Given the description of an element on the screen output the (x, y) to click on. 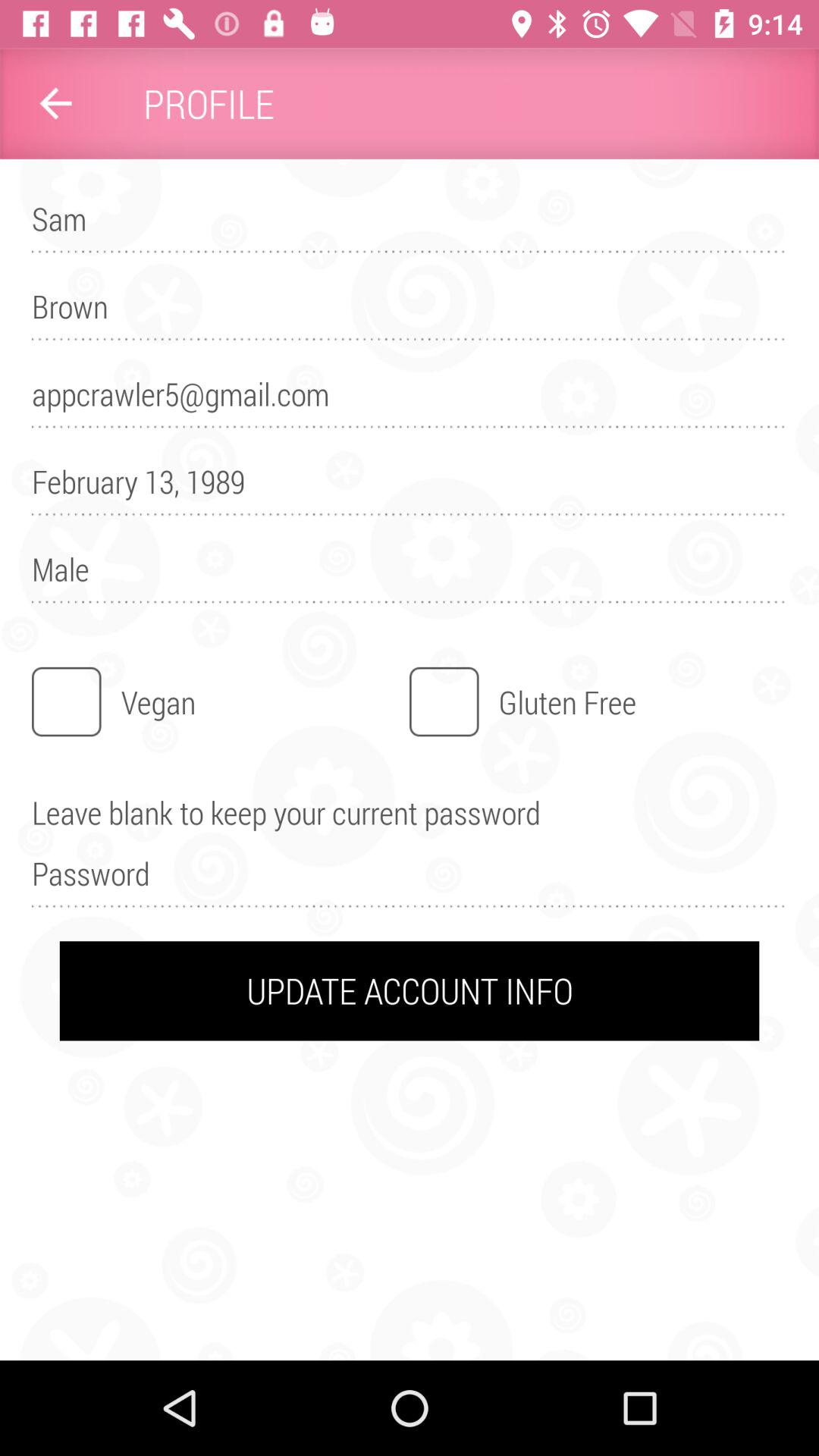
scroll until update account info item (409, 990)
